Given the description of an element on the screen output the (x, y) to click on. 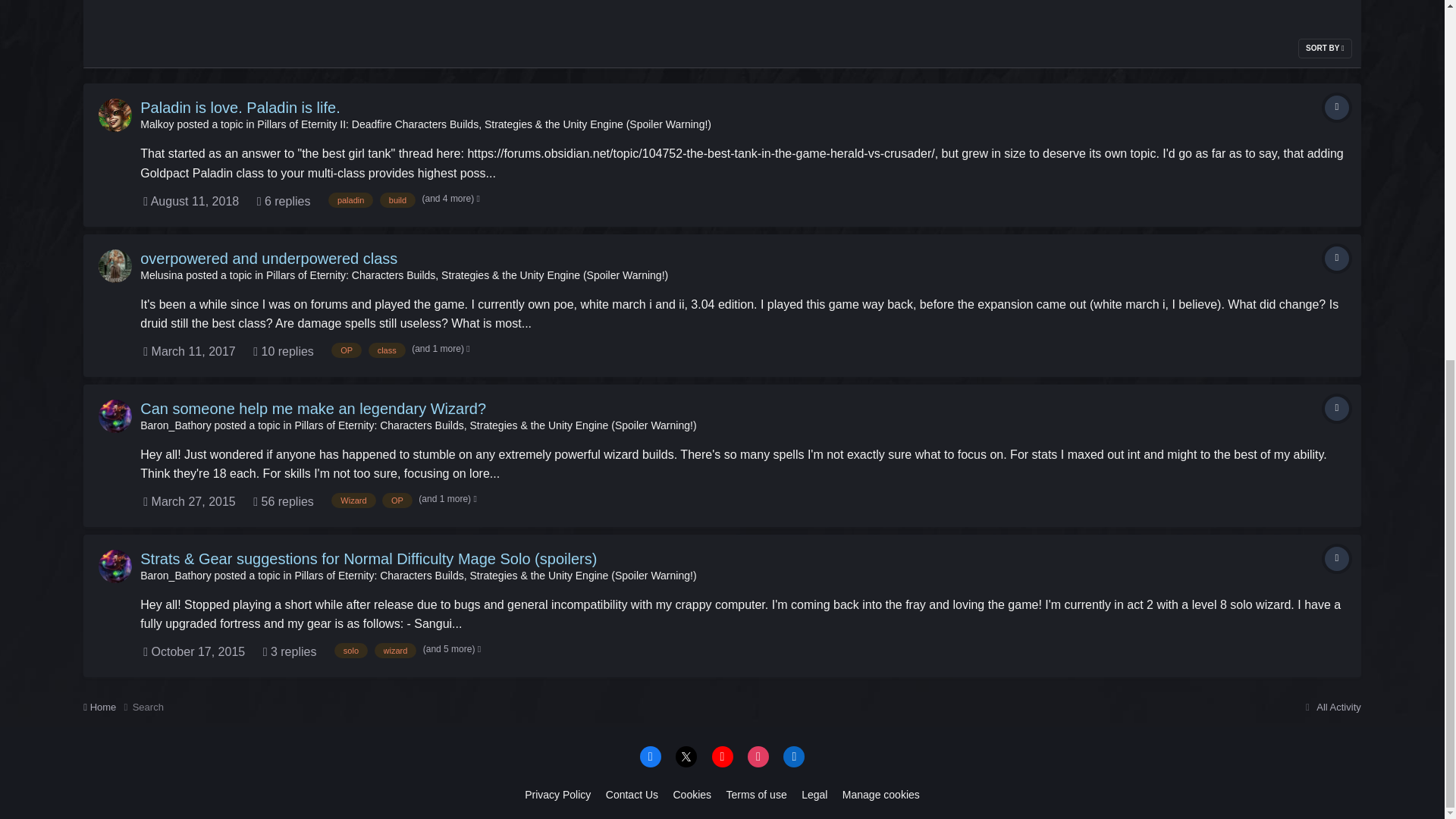
Topic (1336, 258)
Find other content tagged with 'build' (397, 200)
Topic (1336, 107)
Go to Malkoy's profile (156, 123)
Go to Malkoy's profile (115, 114)
Find other content tagged with 'paladin' (350, 200)
Go to Melusina's profile (115, 265)
Go to Melusina's profile (161, 275)
